Given the description of an element on the screen output the (x, y) to click on. 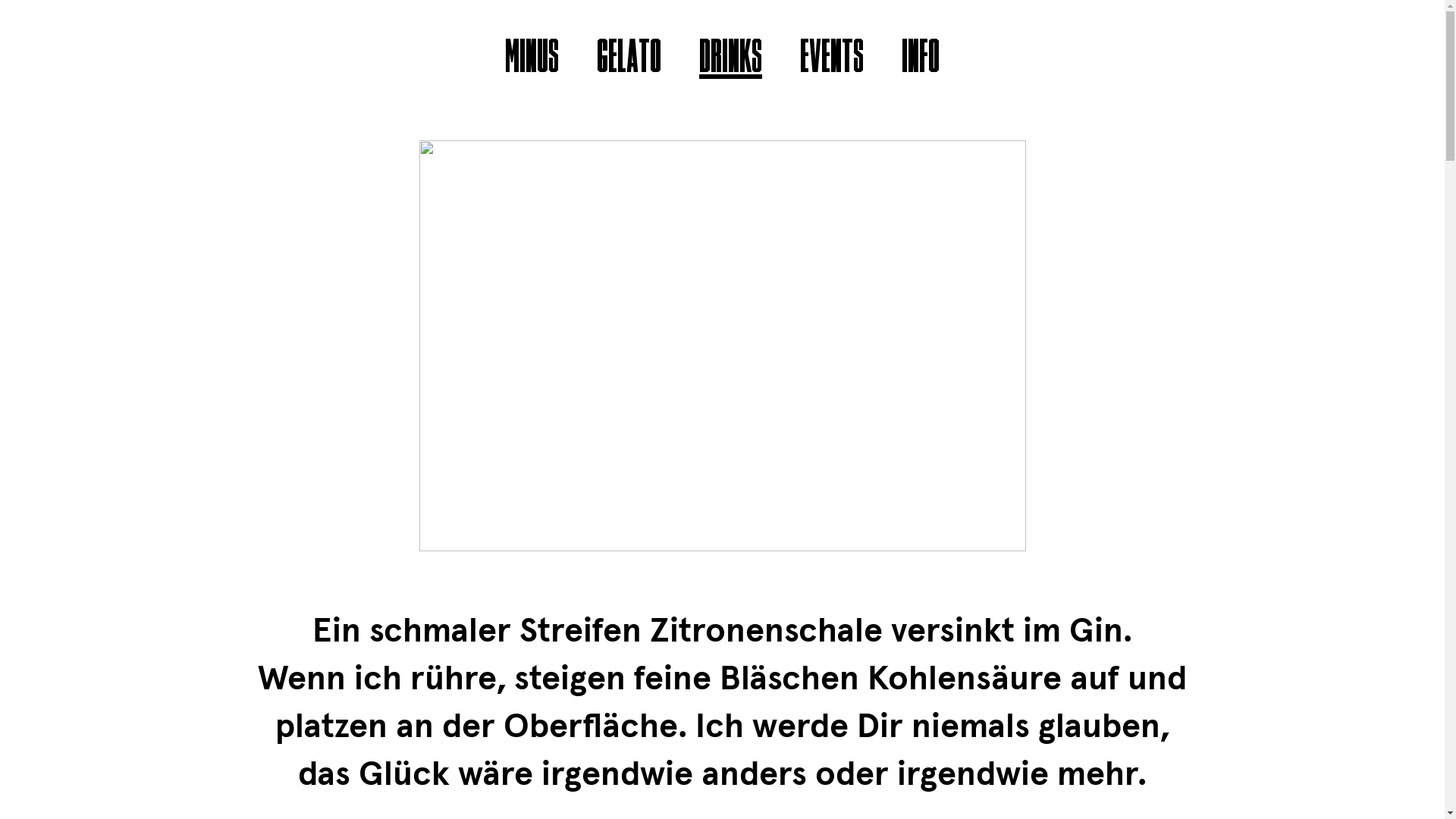
EVENTS Element type: text (831, 60)
DRINKS Element type: text (730, 60)
MINUS Element type: text (531, 60)
INFO Element type: text (920, 60)
GELATO Element type: text (628, 60)
